Given the description of an element on the screen output the (x, y) to click on. 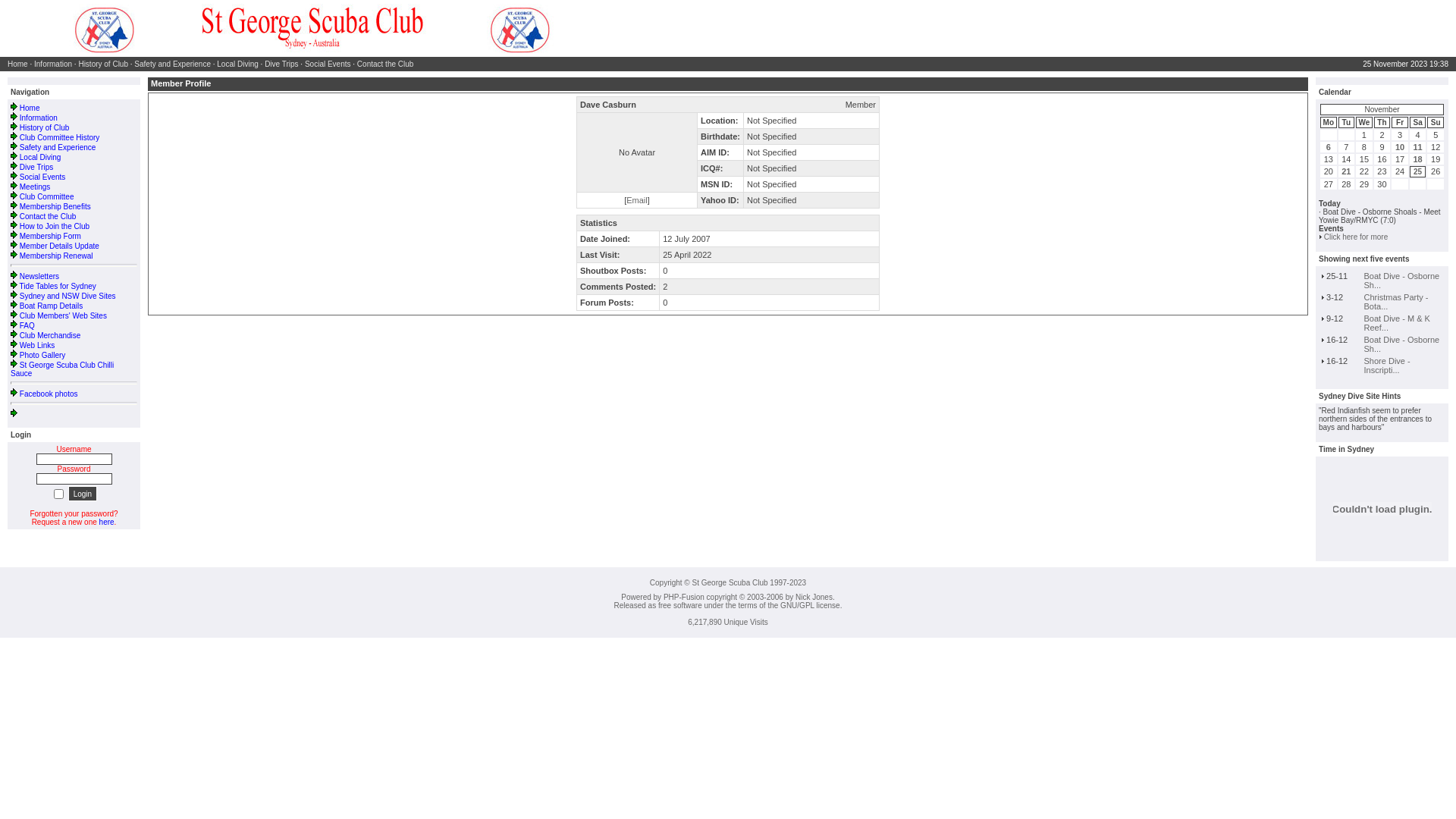
6 Element type: text (1328, 146)
St George Scuba Club Element type: hover (310, 28)
Membership Renewal Element type: text (56, 255)
here Element type: text (106, 521)
Local Diving Element type: text (39, 157)
Facebook photos Element type: text (48, 393)
St George Scuba Club Chilli Sauce Element type: text (61, 368)
Remember Me Element type: hover (58, 493)
18 Element type: text (1416, 158)
Web Links Element type: text (37, 345)
How to Join the Club Element type: text (54, 226)
Information Element type: text (38, 117)
Information Element type: text (53, 63)
Email Element type: text (636, 199)
25 Element type: text (1417, 171)
PHP-Fusion Element type: text (683, 597)
Home Element type: text (29, 107)
Contact the Club Element type: text (47, 216)
Social Events Element type: text (327, 63)
Sydney and NSW Dive Sites Element type: text (67, 295)
Boat Dive - Osborne Sh... Element type: text (1402, 344)
Membership Form Element type: text (50, 236)
Dive Trips Element type: text (281, 63)
Social Events Element type: text (42, 176)
Club Committee History Element type: text (59, 137)
Christmas Party - Bota... Element type: text (1396, 301)
History of Club Element type: text (44, 127)
10 Element type: text (1399, 146)
Club Members' Web Sites Element type: text (62, 315)
Home Element type: text (17, 63)
11 Element type: text (1416, 146)
Club Committee Element type: text (46, 196)
Newsletters Element type: text (39, 276)
Safety and Experience Element type: text (57, 147)
Safety and Experience Element type: text (172, 63)
21 Element type: text (1345, 170)
Shore Dive - Inscripti... Element type: text (1387, 365)
Dive Trips Element type: text (36, 167)
Photo Gallery Element type: text (42, 355)
Membership Benefits Element type: text (55, 206)
Login Element type: text (82, 493)
FAQ Element type: text (26, 325)
Click here for more Element type: text (1355, 236)
Contact the Club Element type: text (385, 63)
Boat Dive - Osborne Sh... Element type: text (1402, 280)
Meetings Element type: text (34, 186)
Boat Ramp Details Element type: text (50, 305)
Member Details Update Element type: text (59, 245)
History of Club Element type: text (103, 63)
Local Diving Element type: text (236, 63)
Boat Dive - M & K Reef... Element type: text (1397, 322)
Tide Tables for Sydney Element type: text (57, 286)
Club Merchandise Element type: text (50, 335)
